Given the description of an element on the screen output the (x, y) to click on. 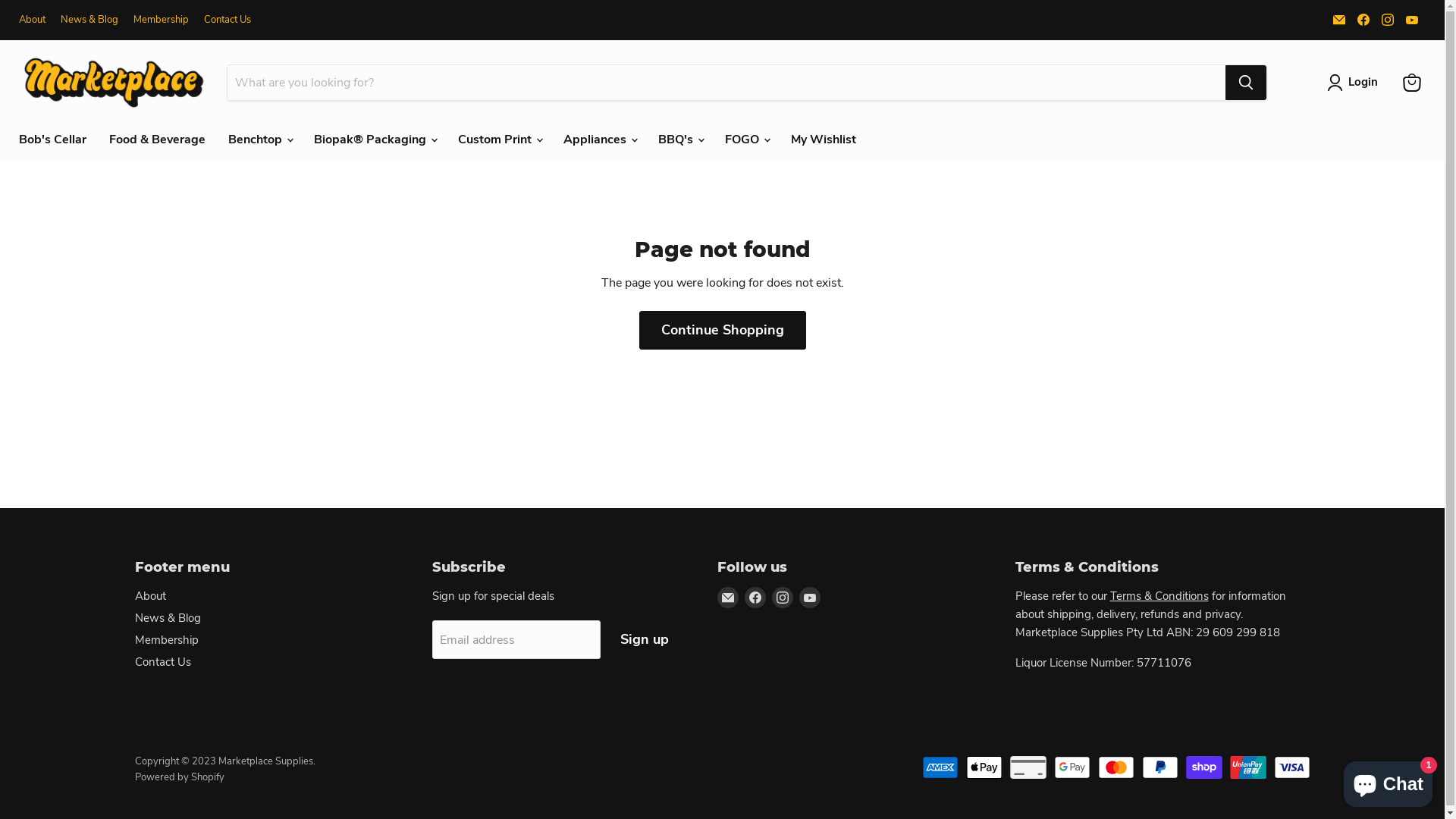
Contact Us Element type: text (162, 661)
Continue Shopping Element type: text (721, 329)
Email Marketplace Supplies Element type: text (727, 597)
View cart Element type: text (1411, 82)
News & Blog Element type: text (167, 617)
Food & Beverage Element type: text (156, 139)
Powered by Shopify Element type: text (179, 777)
Shopify online store chat Element type: hover (1388, 780)
Membership Element type: text (160, 19)
About Element type: text (150, 595)
Email Marketplace Supplies Element type: text (1338, 19)
Find us on Facebook Element type: text (754, 597)
About Element type: text (31, 19)
My Wishlist Element type: text (823, 139)
News & Blog Element type: text (89, 19)
Find us on Instagram Element type: text (782, 597)
Login Element type: text (1355, 82)
Find us on YouTube Element type: text (1411, 19)
Contact Us Element type: text (227, 19)
Find us on Facebook Element type: text (1363, 19)
Sign up Element type: text (644, 639)
Bob's Cellar Element type: text (52, 139)
Terms & Conditions Element type: text (1159, 595)
Find us on Instagram Element type: text (1387, 19)
Find us on YouTube Element type: text (809, 597)
Membership Element type: text (166, 639)
